Given the description of an element on the screen output the (x, y) to click on. 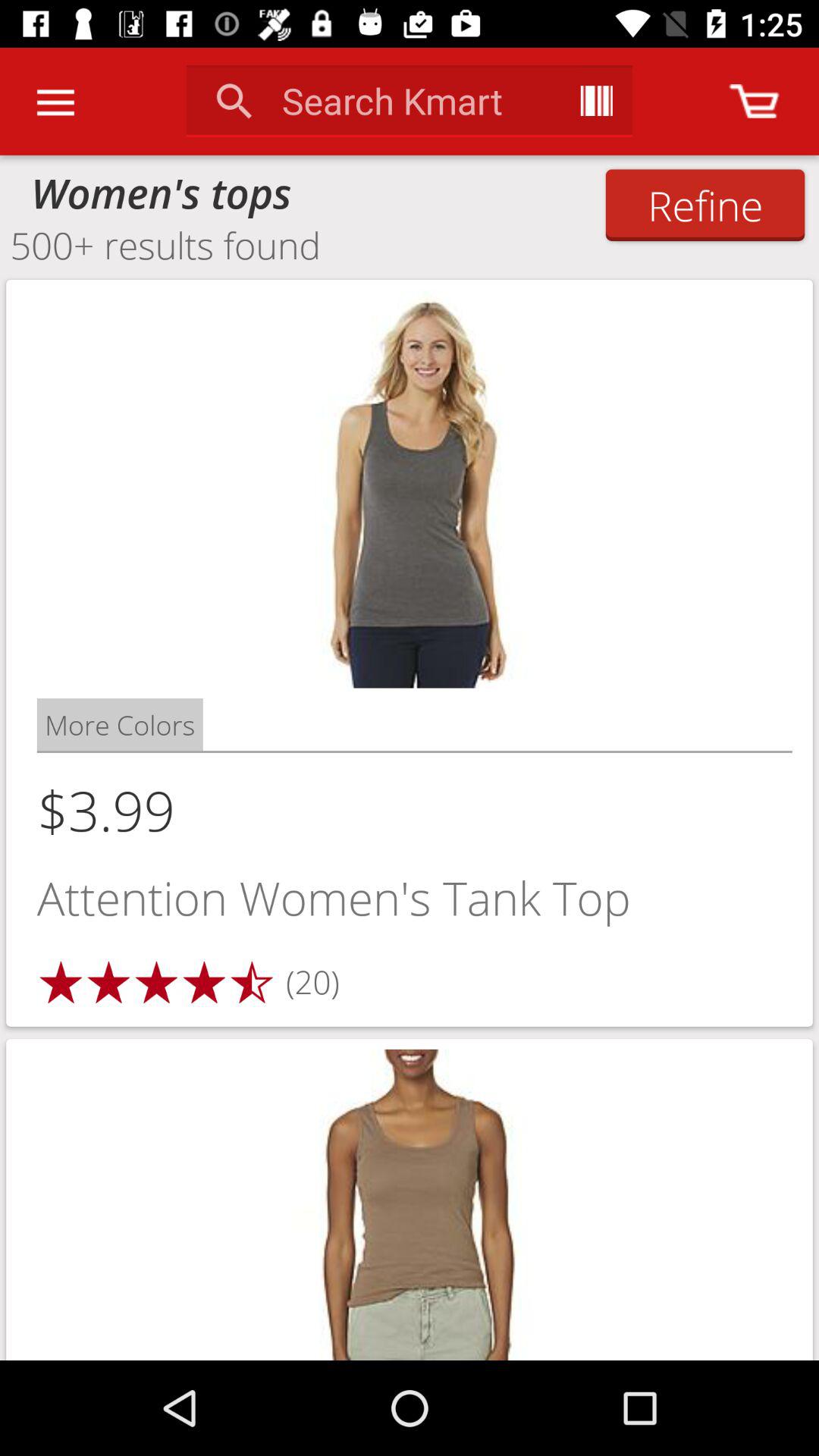
select icon to the right of the  women's tops item (704, 205)
